Given the description of an element on the screen output the (x, y) to click on. 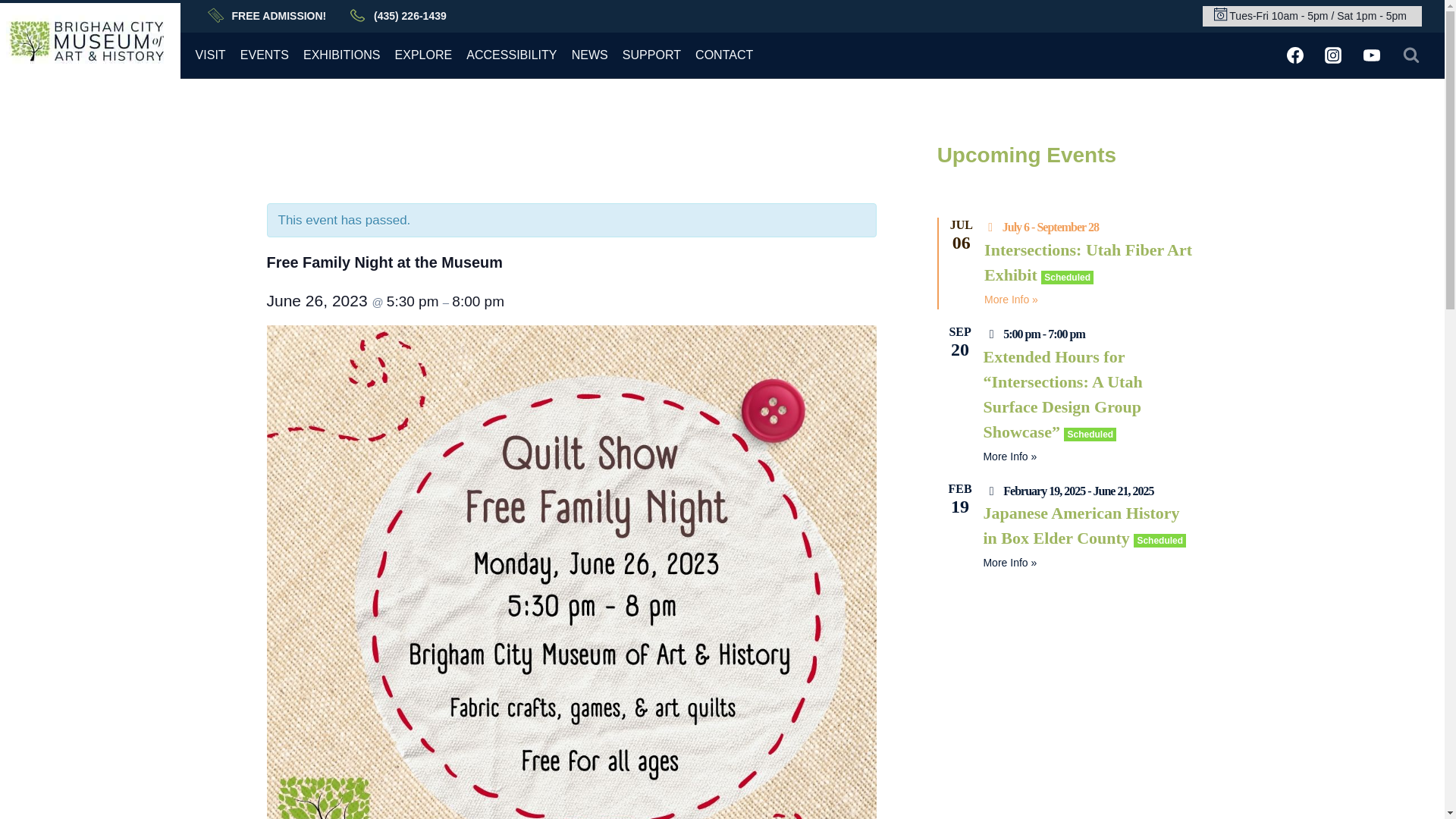
CONTACT (724, 55)
ACCESSIBILITY (512, 55)
EXHIBITIONS (341, 55)
VISIT (209, 55)
EXPLORE (423, 55)
FREE ADMISSION! (278, 15)
NEWS (589, 55)
SUPPORT (650, 55)
EVENTS (263, 55)
